Given the description of an element on the screen output the (x, y) to click on. 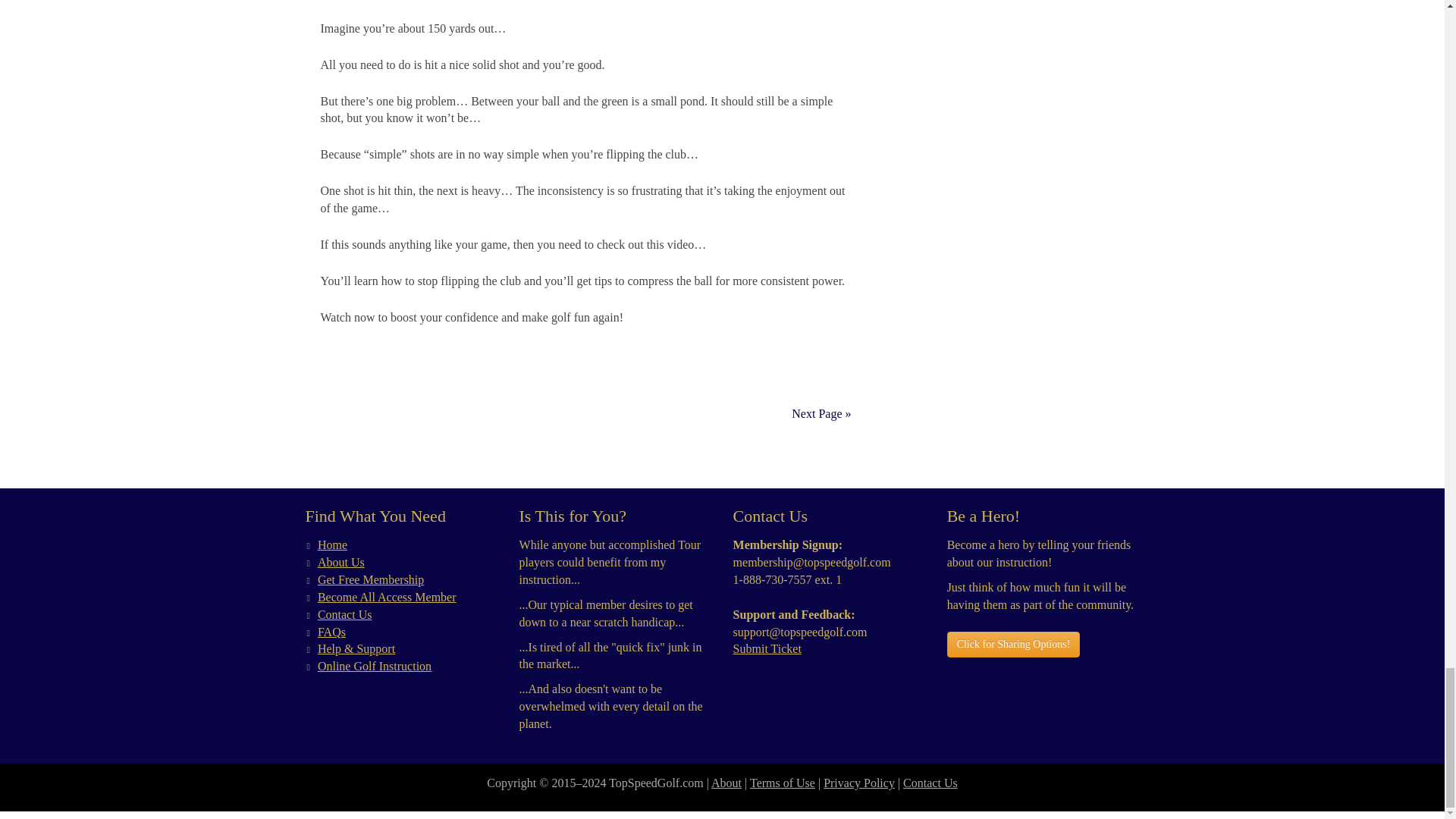
Online Golf Instruction (373, 666)
Contact Us (344, 614)
About Us (341, 562)
About (726, 782)
Contact Us (930, 782)
Terms of Use (782, 782)
Home (332, 544)
Become All Access Member (387, 596)
Submit Ticket (767, 648)
Click for Sharing Options! (1013, 644)
FAQs (331, 631)
Privacy Policy (859, 782)
Get Free Membership (370, 579)
